Given the description of an element on the screen output the (x, y) to click on. 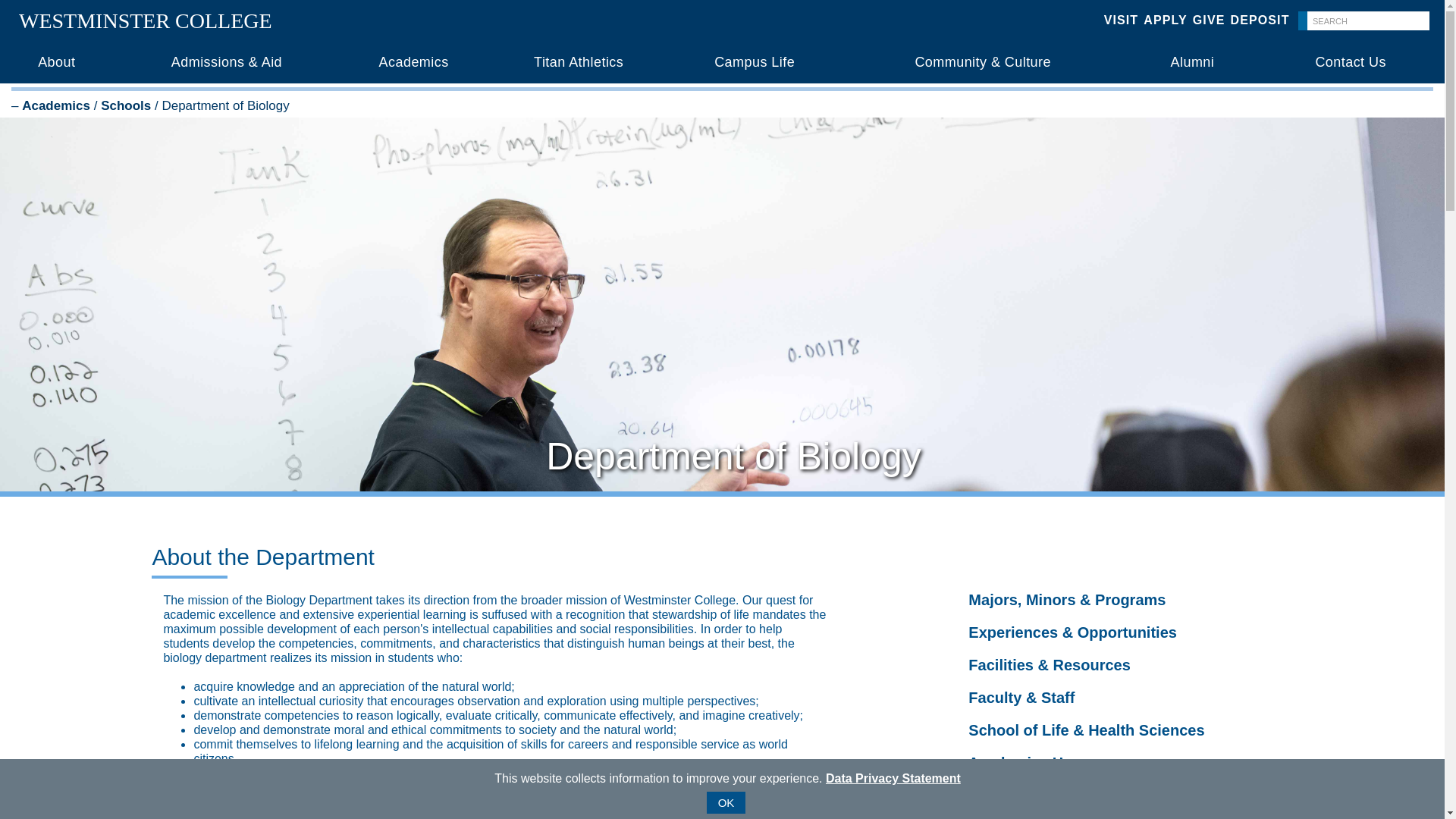
GIVE (1208, 20)
 Schedule a Visit (1023, 795)
APPLY (1164, 20)
Schools (125, 105)
Academics (55, 105)
Alumni (1191, 62)
VISIT (1120, 20)
Titan Athletics (578, 62)
 Academics Home (1028, 762)
DEPOSIT (1259, 20)
Campus Life (754, 62)
Academics (413, 62)
About (56, 62)
WESTMINSTER COLLEGE (145, 20)
